Given the description of an element on the screen output the (x, y) to click on. 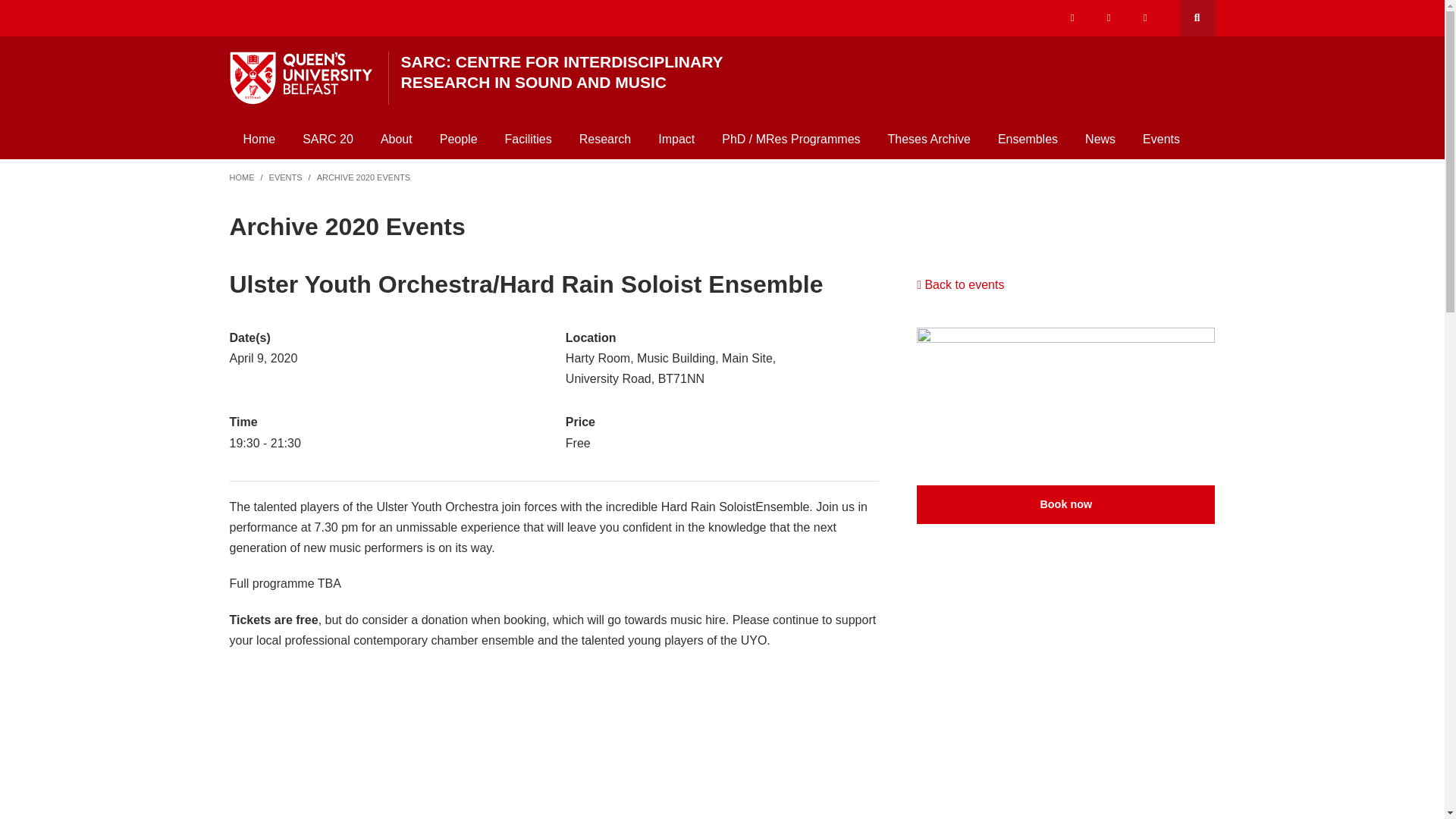
Our facebook (1108, 18)
Our youtube (1144, 18)
Ensembles (1027, 138)
Events (1161, 138)
SARC 20 (327, 138)
About (396, 138)
Theses Archive (929, 138)
Open search drawer (1195, 18)
Home (258, 138)
